Given the description of an element on the screen output the (x, y) to click on. 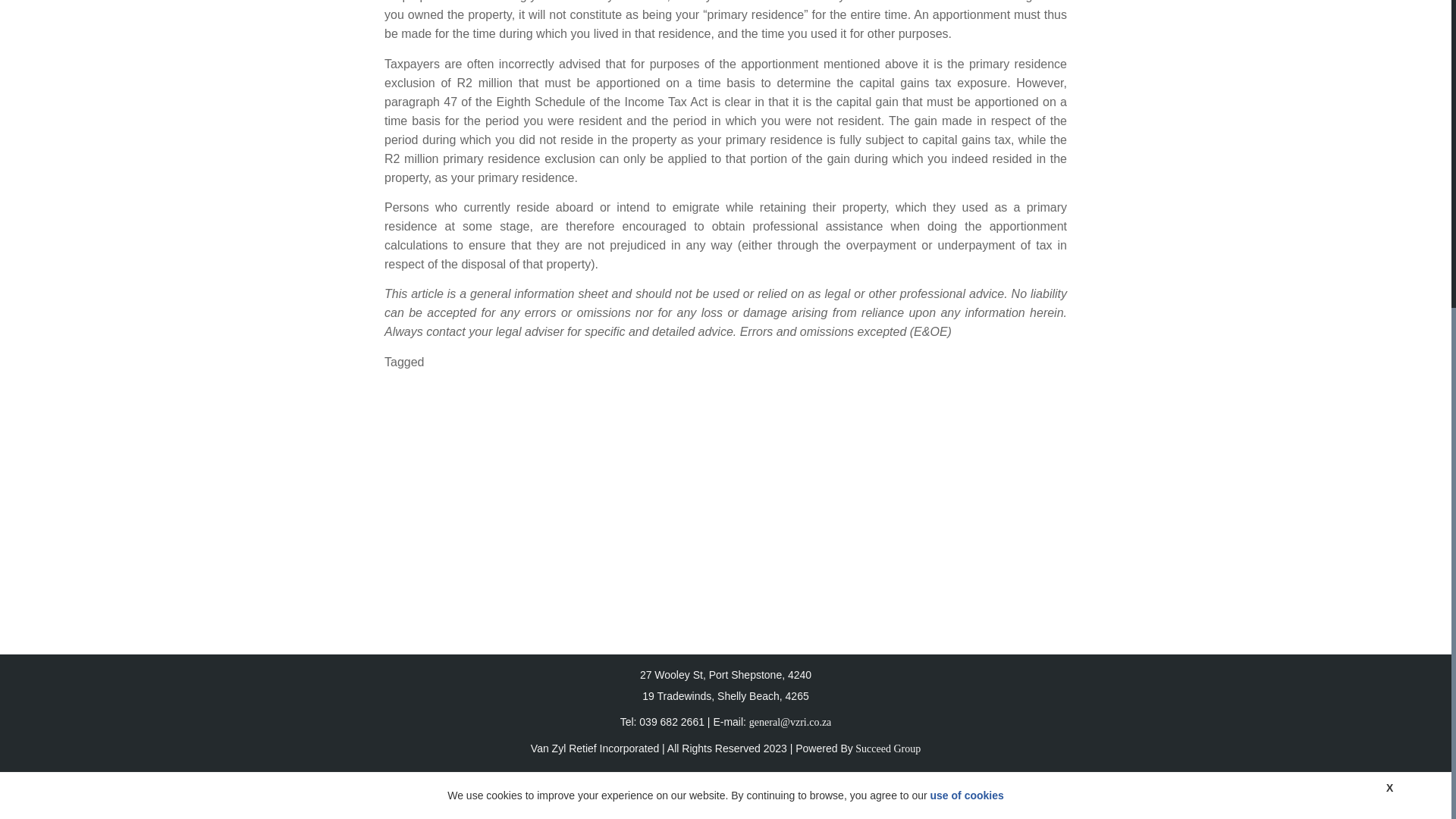
Income Tax Act (587, 361)
use of cookies (967, 301)
Succeed Group (886, 748)
South African tax resident (707, 361)
immovable property (485, 361)
Explore Our Services (792, 569)
Privacy Policy (725, 794)
Call Us Today (652, 569)
